Given the description of an element on the screen output the (x, y) to click on. 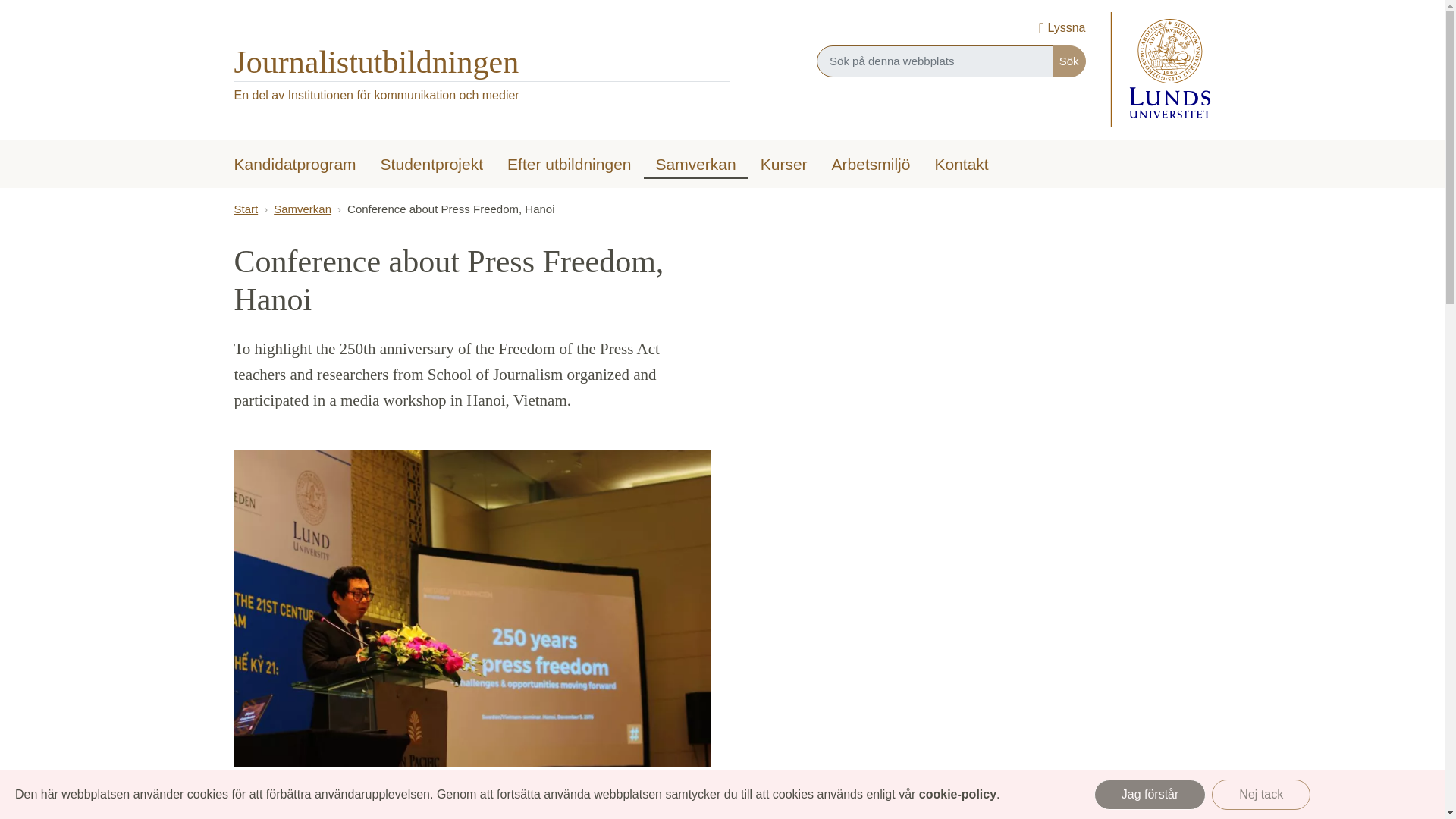
Nej tack (1260, 794)
Efter utbildningen (569, 165)
cookie-policy (956, 793)
Journalistutbildningen (375, 62)
Samverkan (695, 162)
Kontakt (960, 165)
Lyssna (1062, 28)
Kurser (783, 165)
Studentprojekt (431, 165)
Kandidatprogram (294, 165)
